Given the description of an element on the screen output the (x, y) to click on. 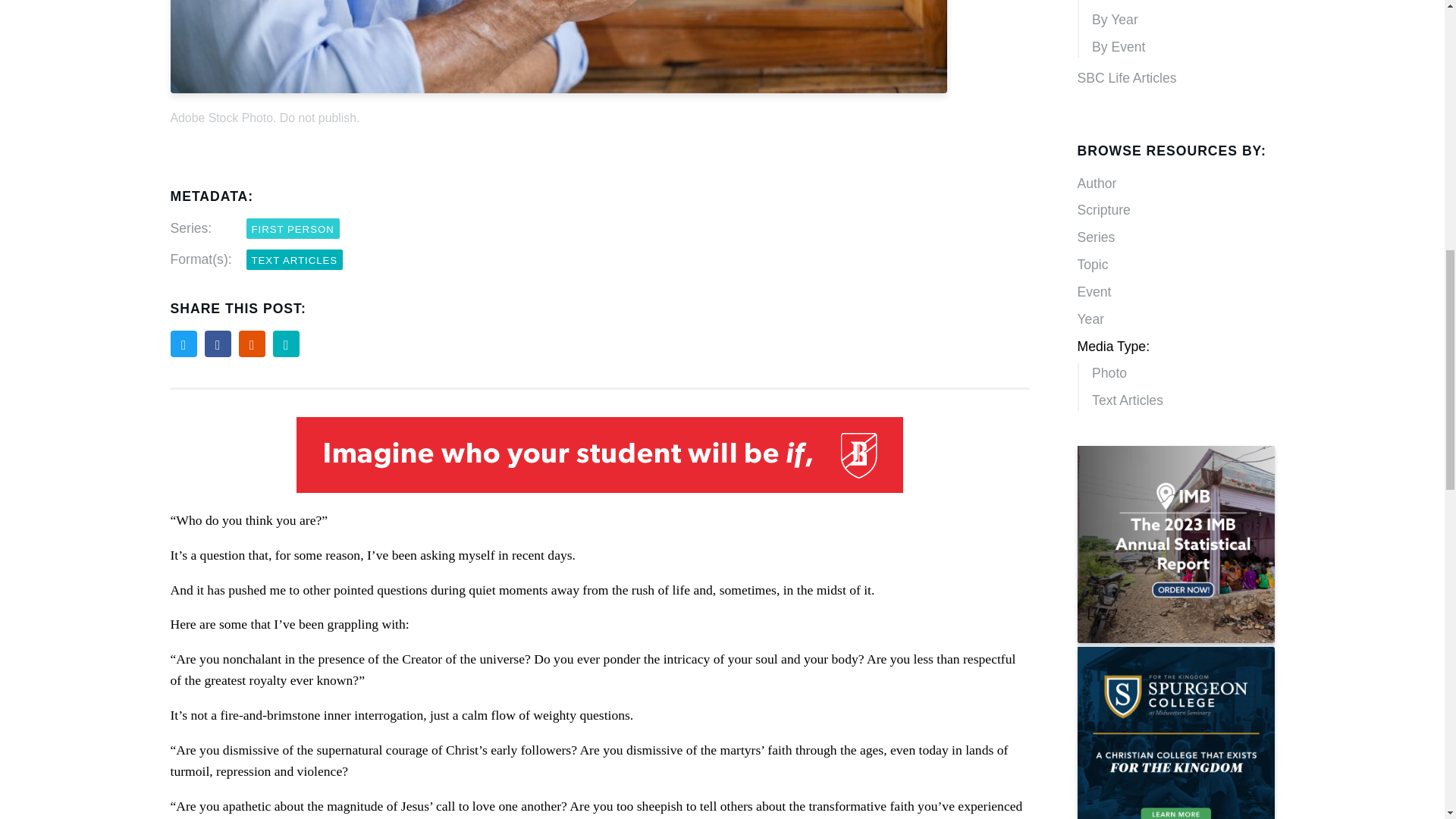
FIRST PERSON (292, 228)
TEXT ARTICLES (294, 259)
Adobe Stock Photo. Do not publish. (598, 70)
